Given the description of an element on the screen output the (x, y) to click on. 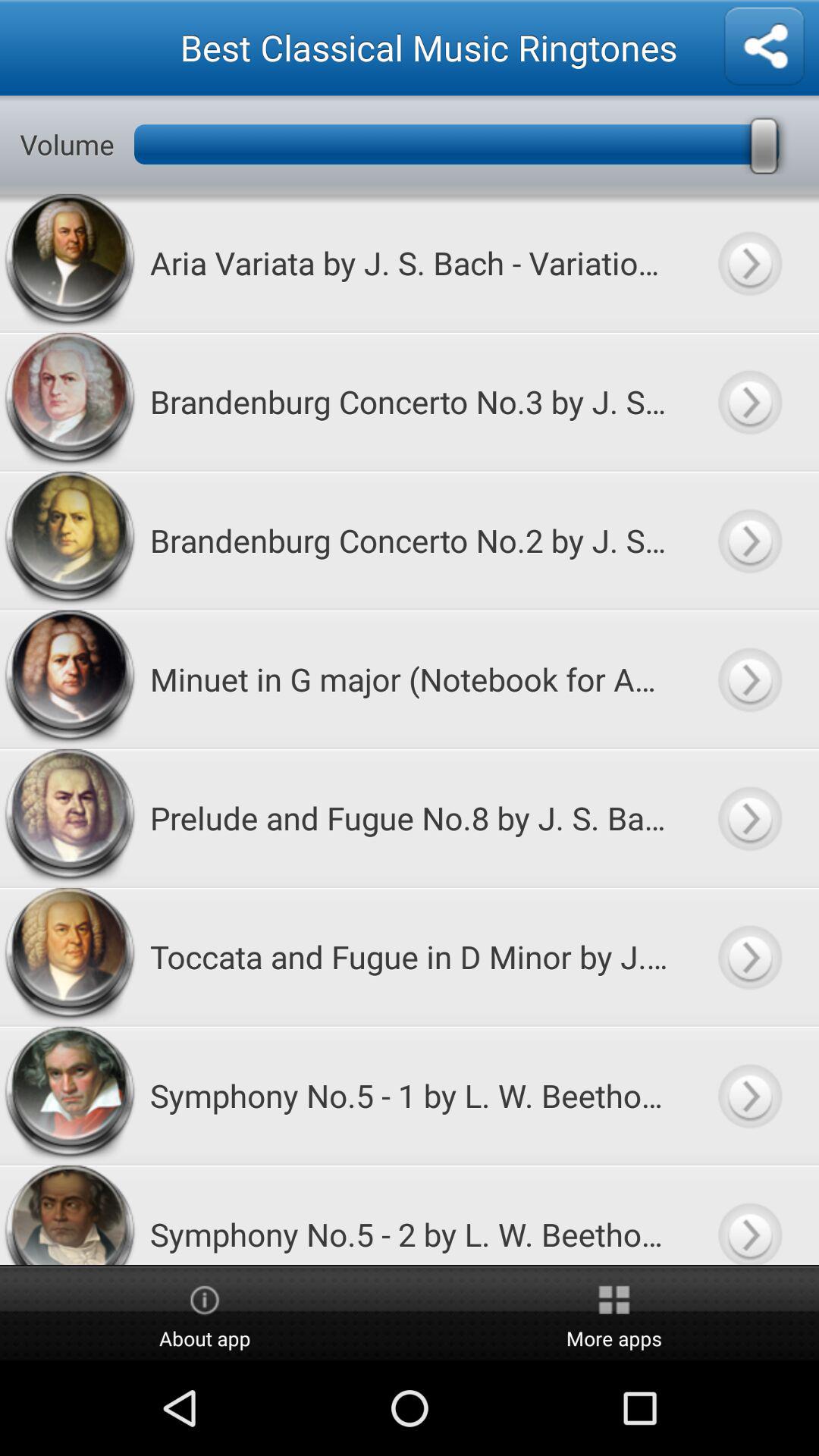
play ringtone (749, 1095)
